Given the description of an element on the screen output the (x, y) to click on. 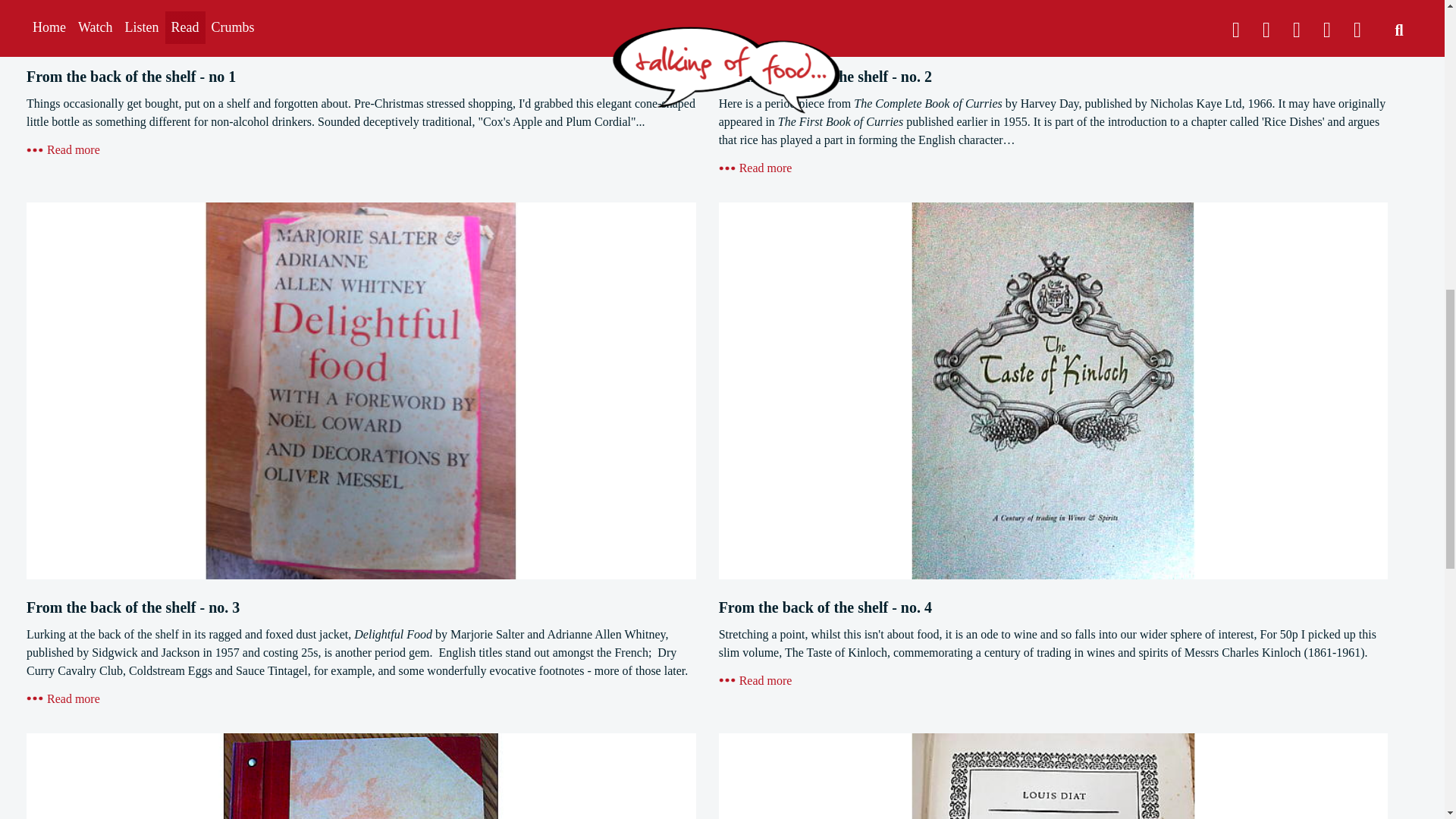
From the back of the shelf - no. 2 (755, 167)
From the back of the shelf - no 1 (63, 149)
From the back of the shelf - no. 4 (755, 680)
From the back of the shelf - no. 3 (63, 698)
